Given the description of an element on the screen output the (x, y) to click on. 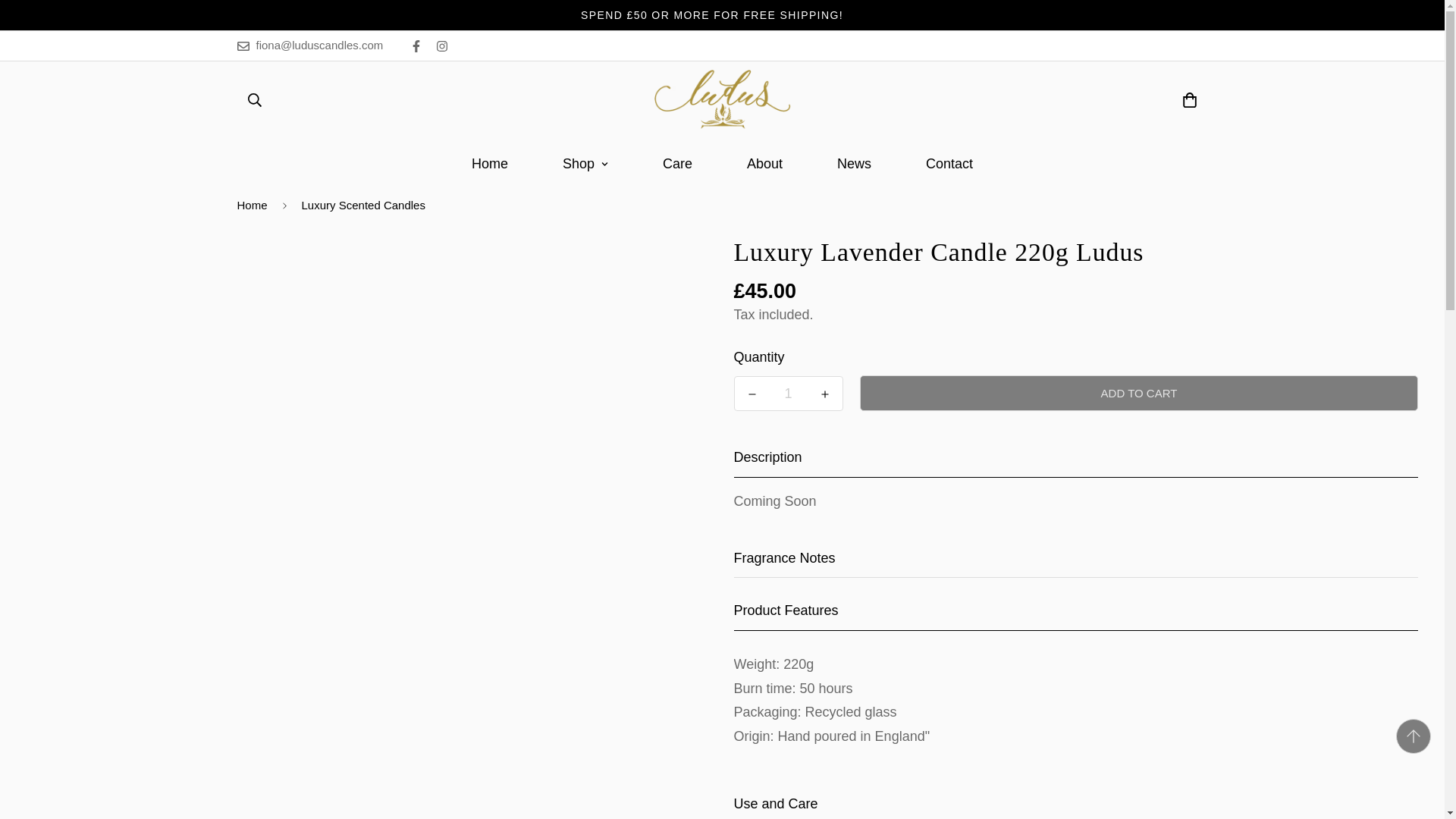
Contact (949, 164)
Shop (584, 164)
Back to the home page (251, 205)
Ludus Candles (721, 99)
1 (787, 393)
Care (721, 164)
Home (676, 164)
About (722, 164)
